Given the description of an element on the screen output the (x, y) to click on. 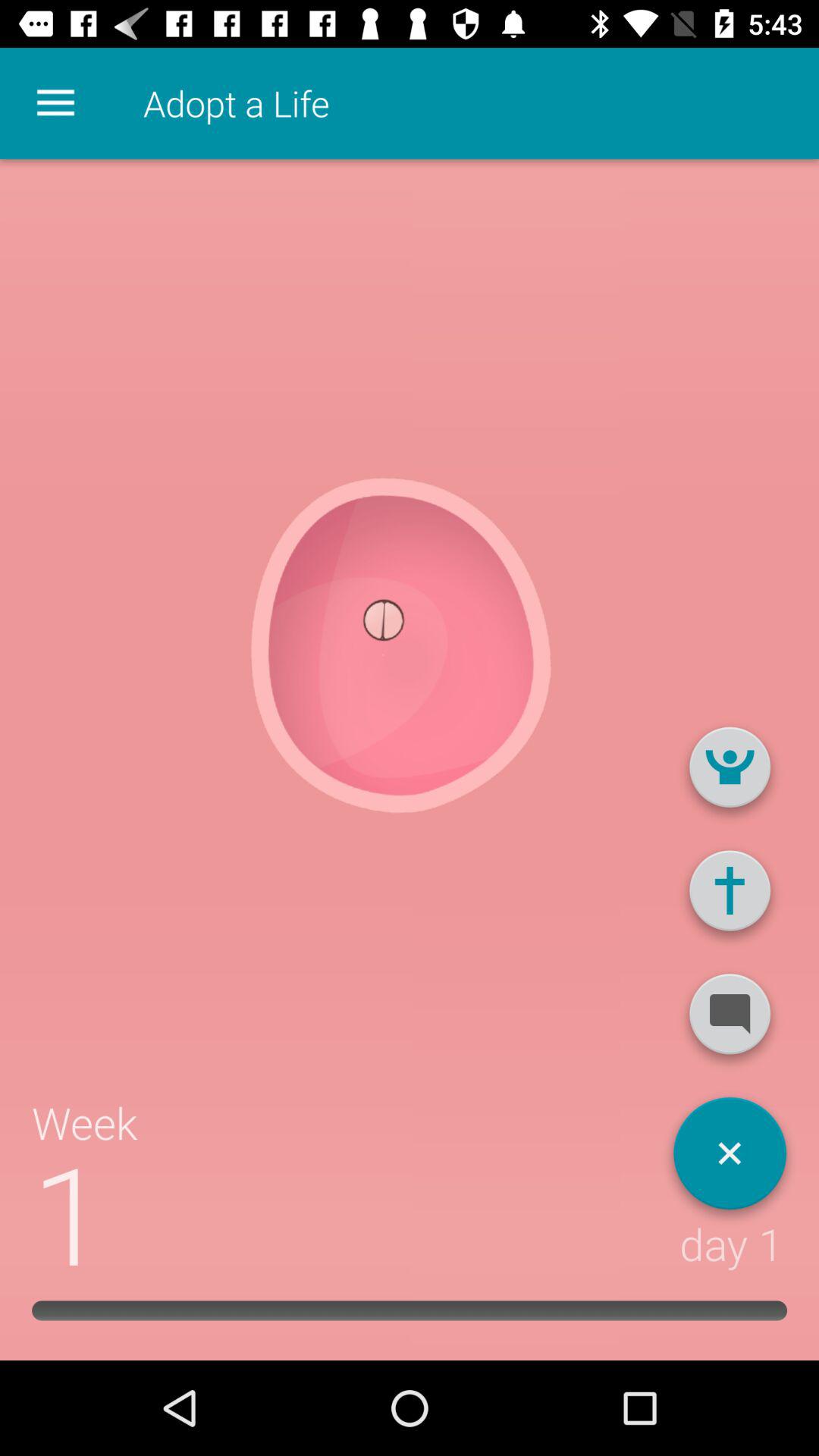
close app (729, 1159)
